Given the description of an element on the screen output the (x, y) to click on. 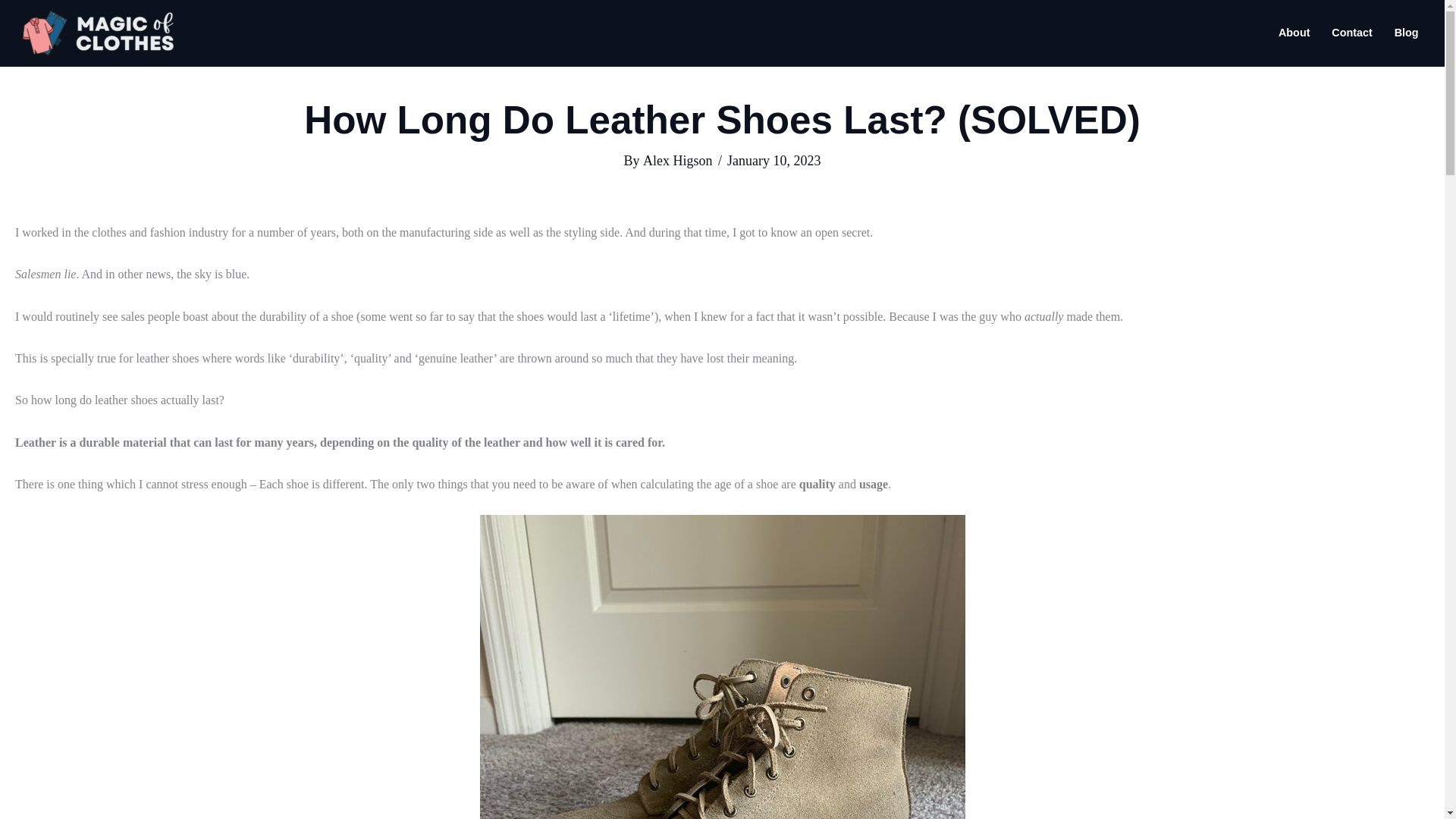
Contact (1351, 32)
About (1294, 32)
Blog (1406, 32)
Alex Higson (678, 160)
View all posts by Alex Higson (678, 160)
